Given the description of an element on the screen output the (x, y) to click on. 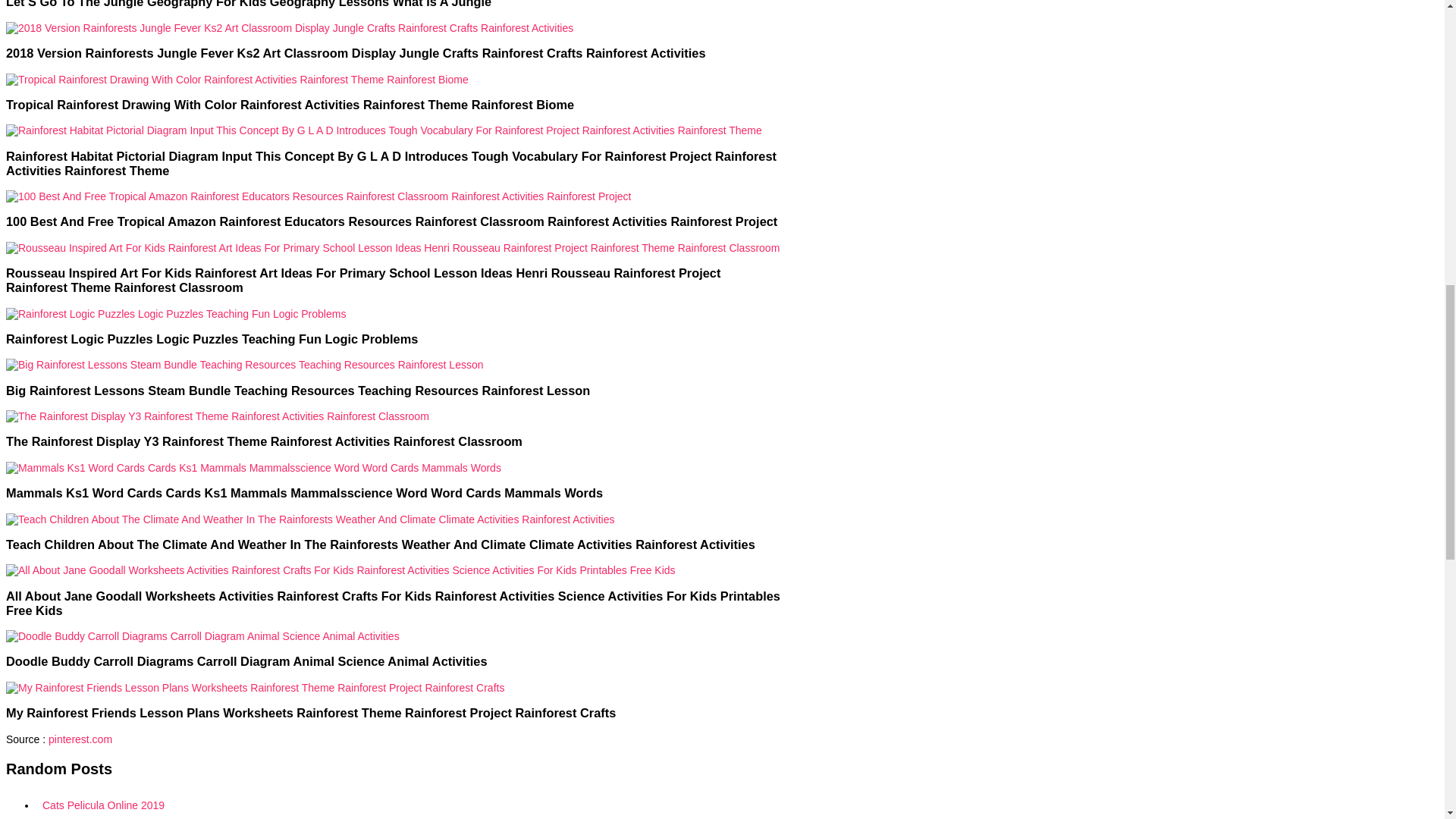
Cats Pelicula Online 2019 (409, 805)
pinterest.com (80, 738)
